Given the description of an element on the screen output the (x, y) to click on. 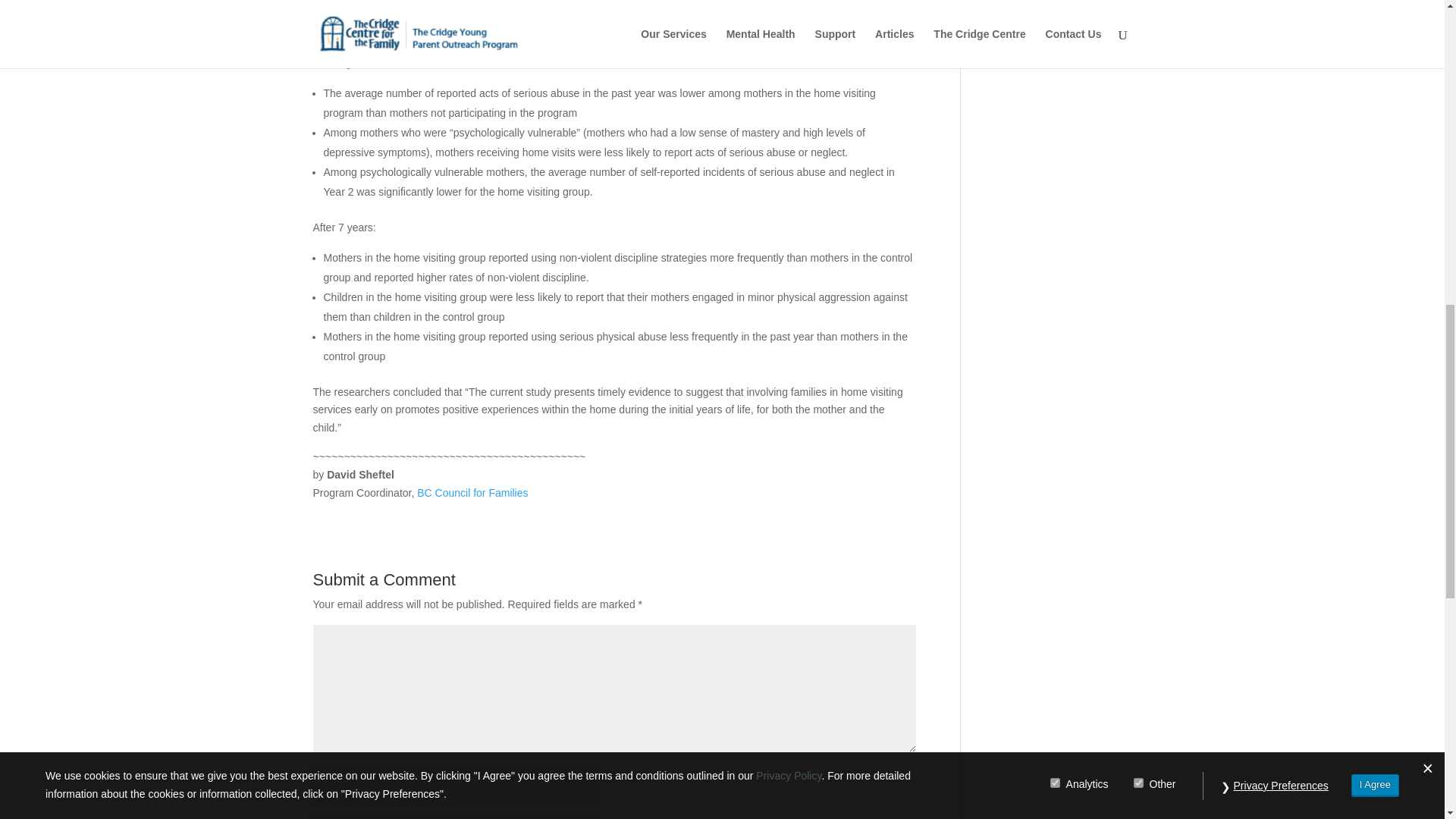
BC Council for Families (471, 492)
